Given the description of an element on the screen output the (x, y) to click on. 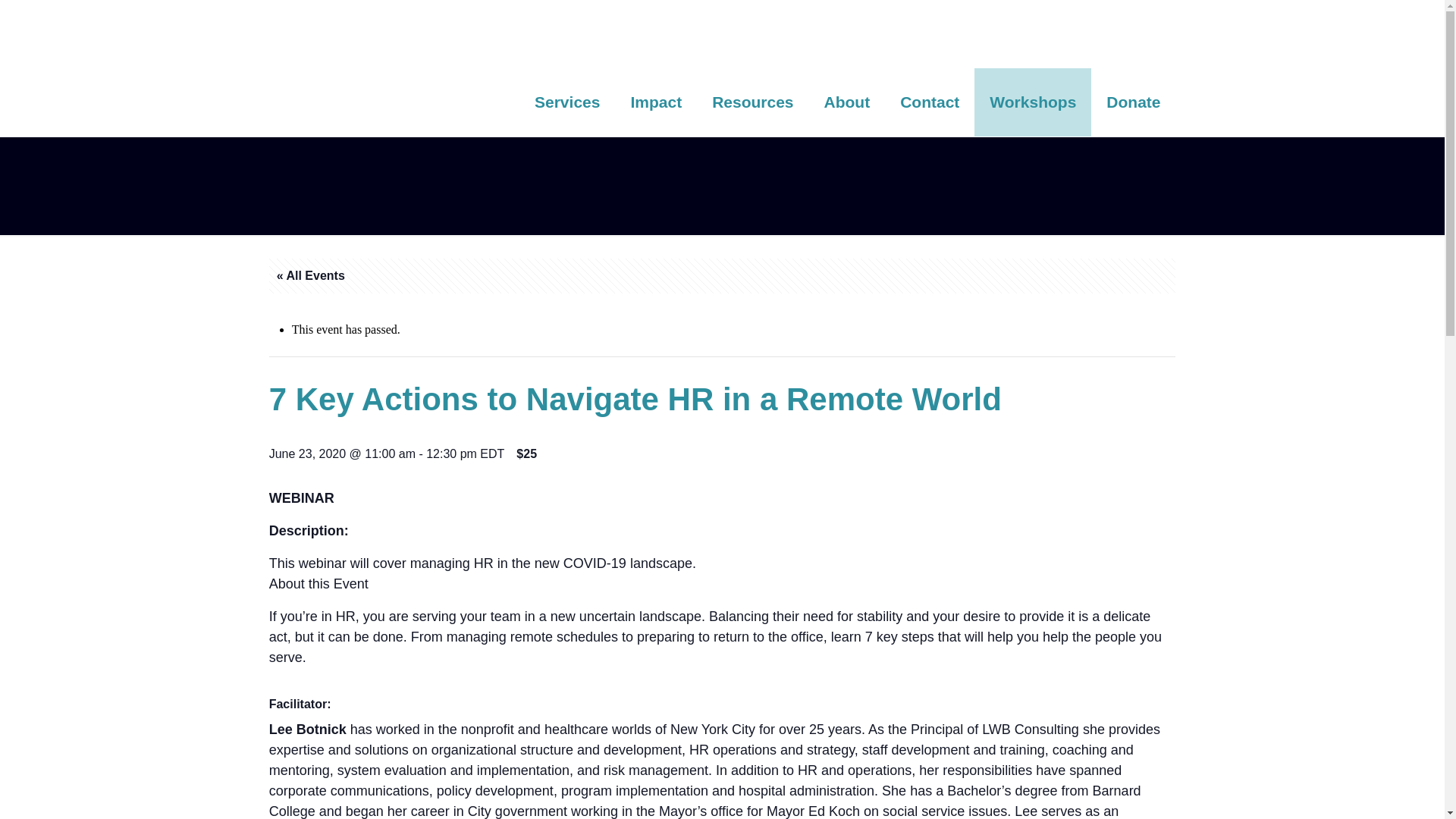
About (847, 101)
Resources (752, 101)
Services (566, 101)
Impact (655, 101)
Support Center (397, 33)
